Given the description of an element on the screen output the (x, y) to click on. 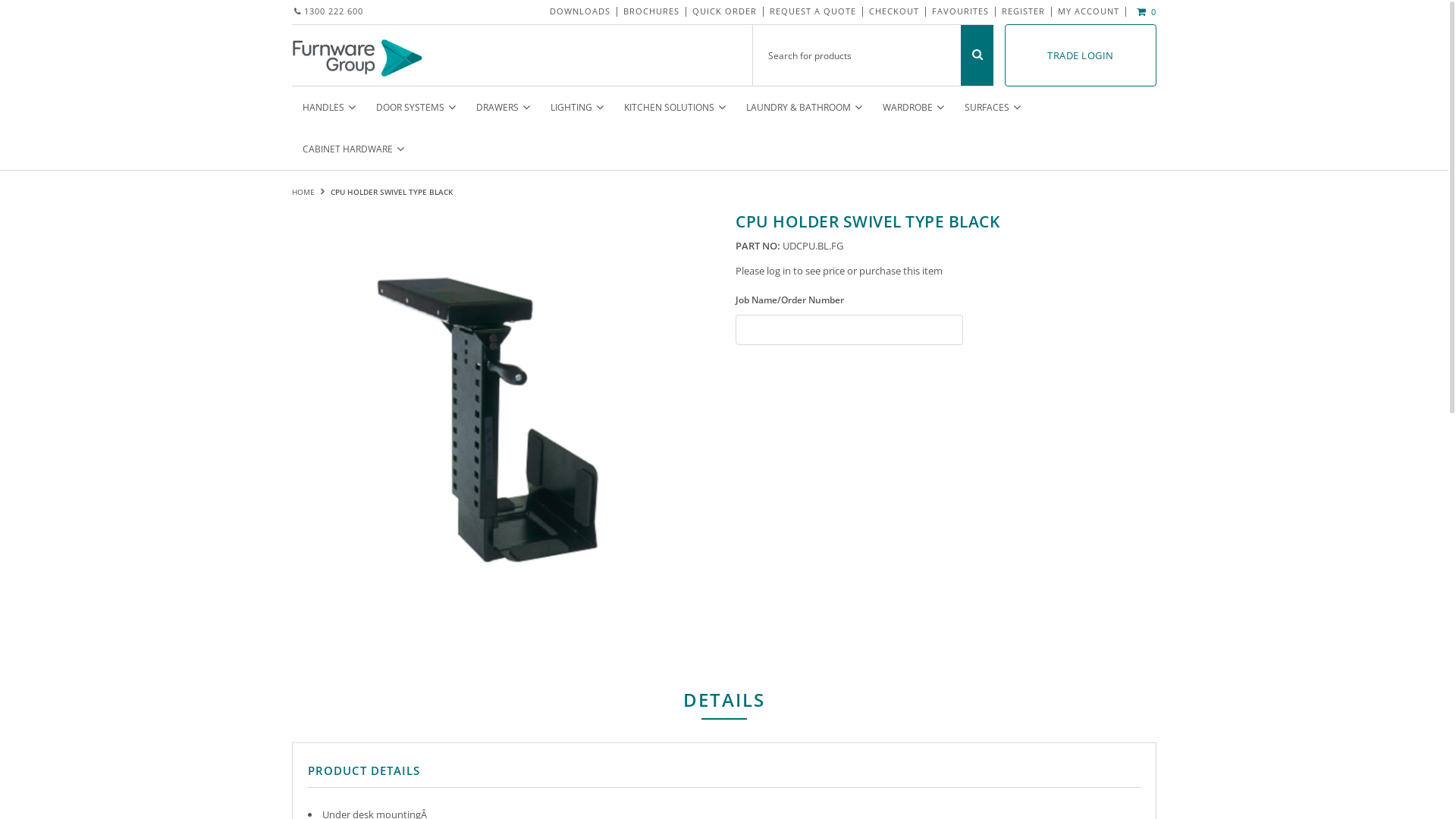
REQUEST A QUOTE Element type: text (812, 10)
LIGHTING Element type: text (576, 107)
CABINET HARDWARE Element type: text (352, 148)
KITCHEN SOLUTIONS Element type: text (674, 107)
HANDLES Element type: text (328, 107)
0 Element type: text (1144, 11)
log in Element type: text (778, 270)
DOWNLOADS Element type: text (579, 10)
WARDROBE Element type: text (912, 107)
QUICK ORDER Element type: text (724, 10)
BROCHURES Element type: text (651, 10)
TRADE LOGIN Element type: text (1080, 55)
1300 222 600 Element type: text (327, 11)
SURFACES Element type: text (991, 107)
Furnware Group Element type: hover (357, 53)
REGISTER Element type: text (1022, 10)
MY ACCOUNT Element type: text (1088, 10)
DRAWERS Element type: text (502, 107)
LAUNDRY & BATHROOM Element type: text (803, 107)
DOOR SYSTEMS Element type: text (415, 107)
HOME Element type: text (303, 191)
FAVOURITES Element type: text (959, 10)
CHECKOUT Element type: text (894, 10)
